Given the description of an element on the screen output the (x, y) to click on. 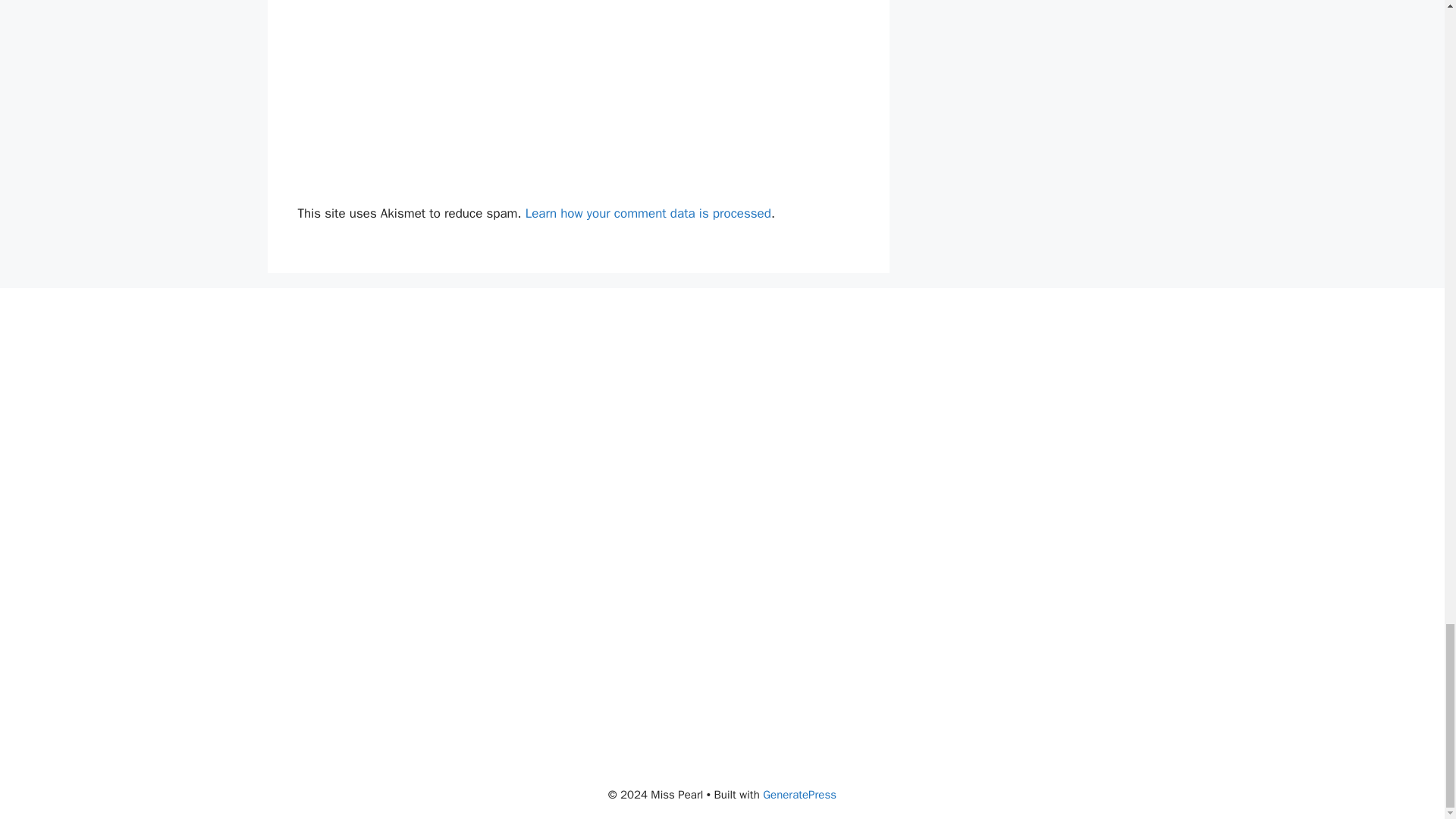
Learn how your comment data is processed (648, 213)
Corporate Conditioning (428, 526)
The Pet Gentleman: Breaking the Pet Gentleman (722, 526)
Comment Form (578, 99)
He Will Obey (1015, 526)
